Given the description of an element on the screen output the (x, y) to click on. 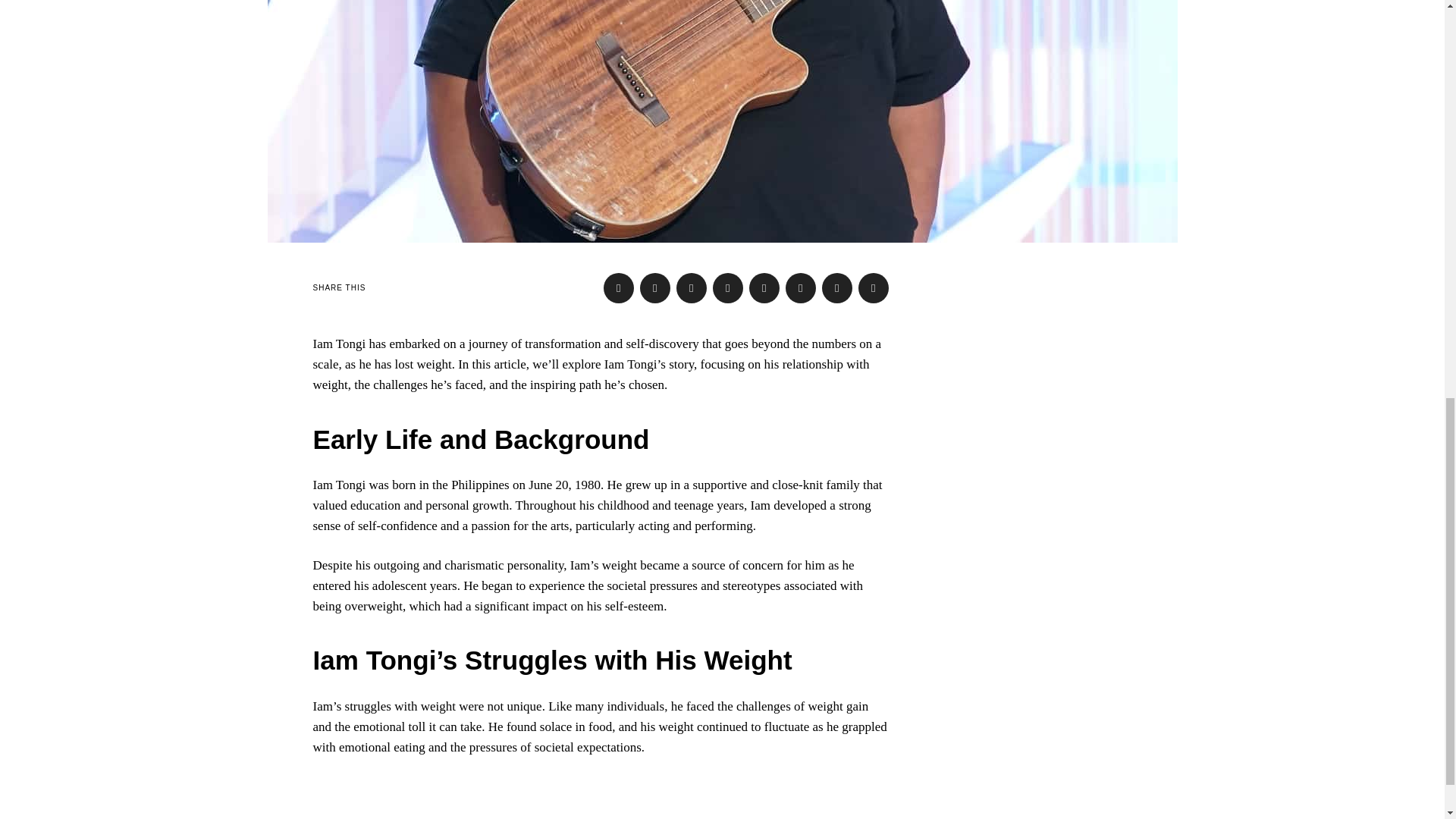
Twitter (691, 287)
Reddit (836, 287)
Pinterest (727, 287)
Whatsapp (800, 287)
Email (873, 287)
Messenger (654, 287)
Linkedin (763, 287)
Facebook (618, 287)
